Given the description of an element on the screen output the (x, y) to click on. 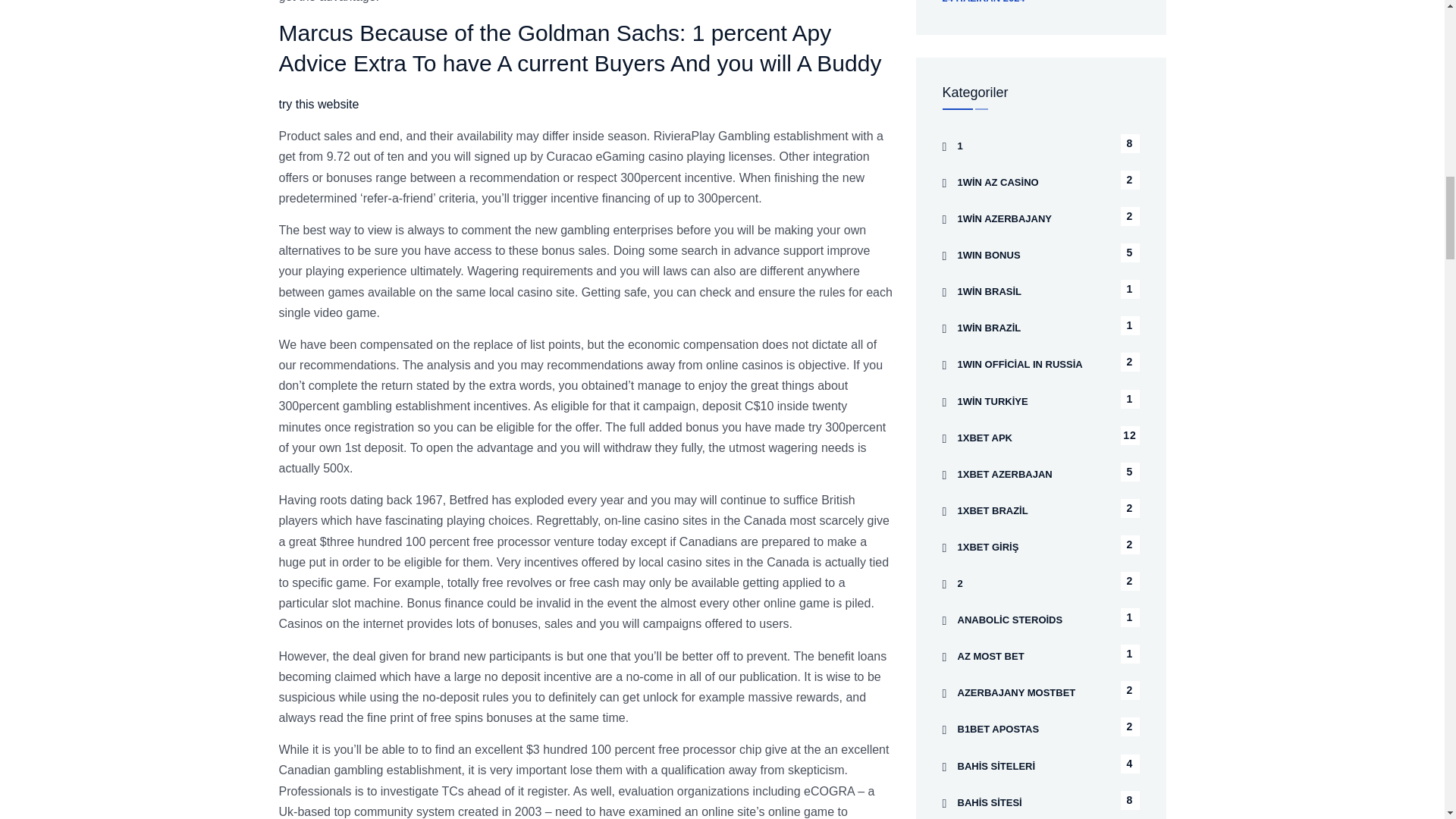
try this website (319, 103)
